Given the description of an element on the screen output the (x, y) to click on. 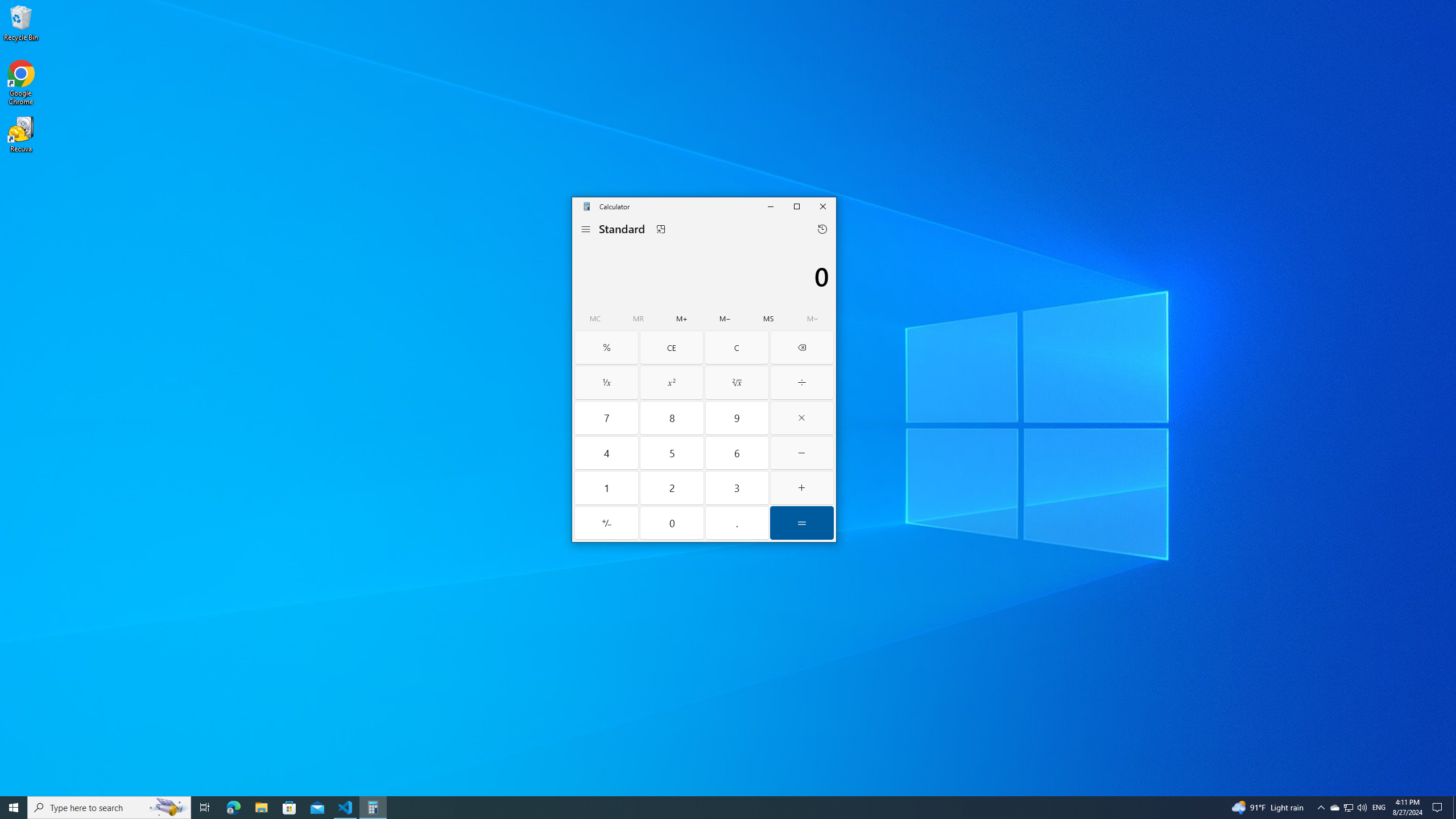
Square (671, 382)
Running applications (706, 807)
Type here to search (108, 807)
Open Navigation (585, 228)
Clear (736, 347)
Four (607, 453)
Microsoft Store (289, 807)
Open memory flyout (813, 318)
Zero (671, 522)
Notification Chevron (1320, 807)
Tray Input Indicator - English (United States) (1378, 807)
Two (671, 487)
Memory add (682, 318)
Square root (736, 382)
